Given the description of an element on the screen output the (x, y) to click on. 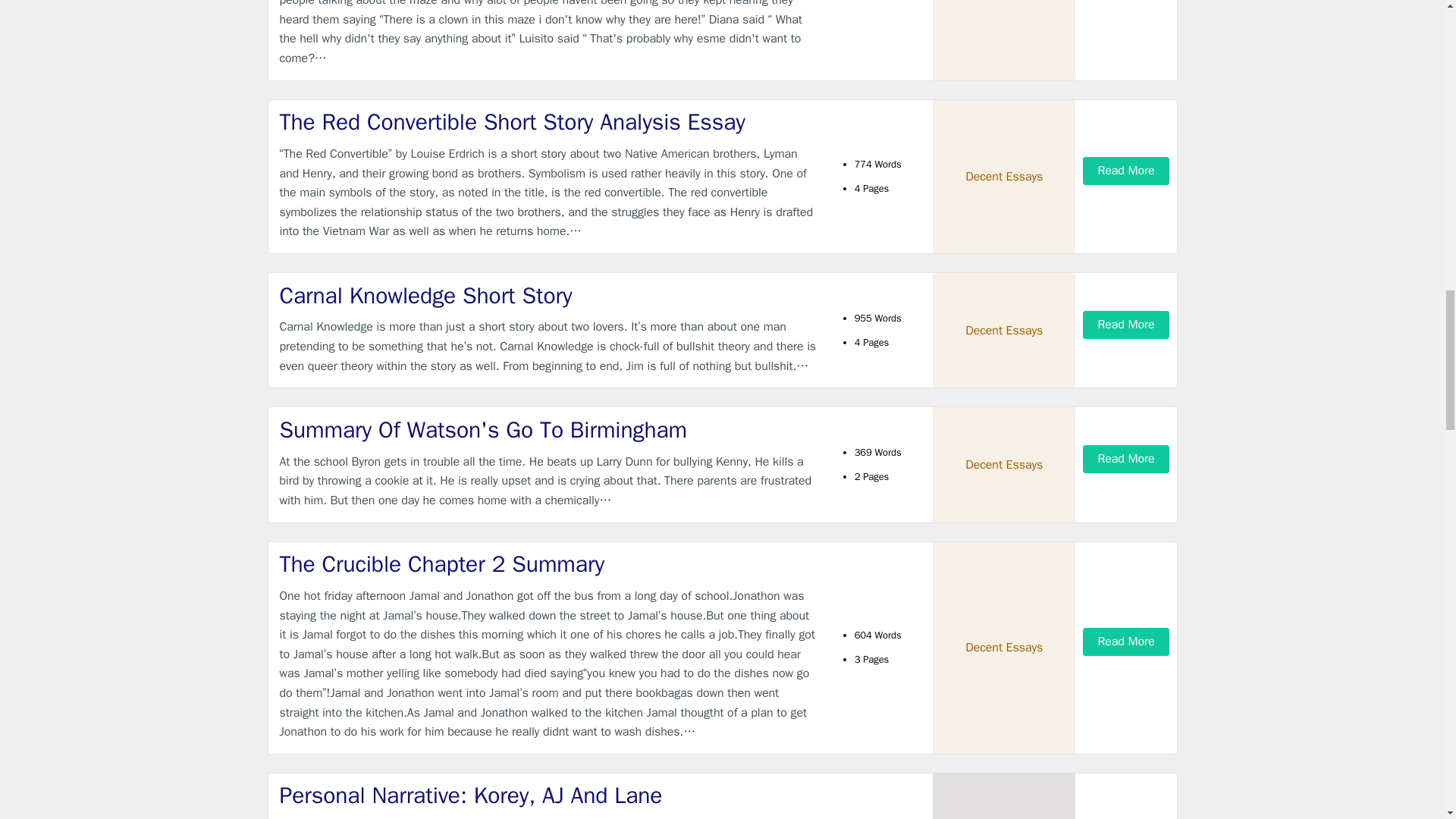
Personal Narrative: Korey, AJ And Lane (548, 795)
Read More (1126, 171)
Read More (1126, 459)
The Red Convertible Short Story Analysis Essay (548, 122)
Read More (1126, 642)
Read More (1126, 325)
Carnal Knowledge Short Story (548, 296)
The Crucible Chapter 2 Summary (548, 563)
Summary Of Watson's Go To Birmingham (548, 429)
